Given the description of an element on the screen output the (x, y) to click on. 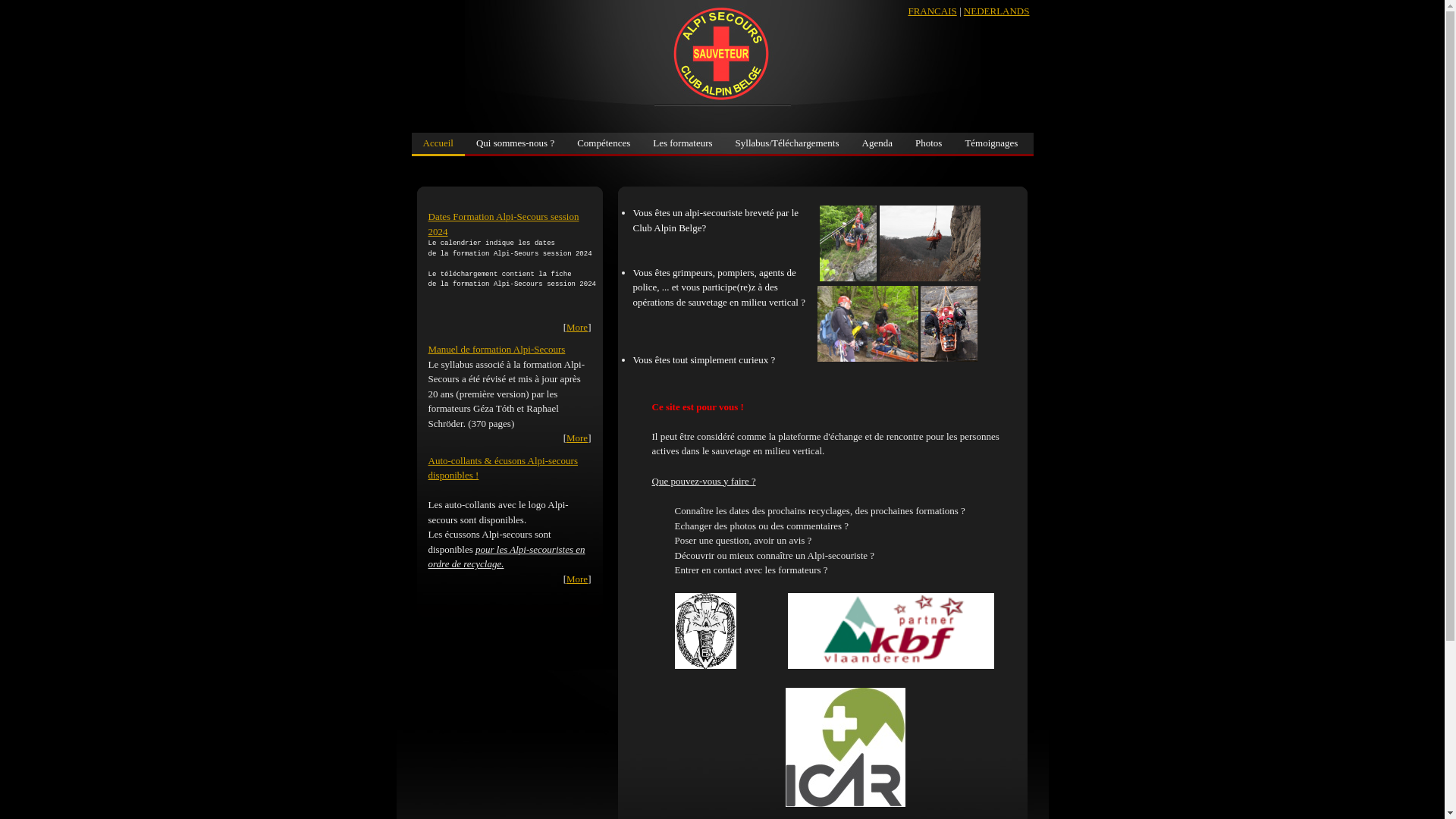
More Element type: text (576, 326)
KBF Element type: hover (890, 630)
Les formateurs Element type: text (682, 142)
Accueil Element type: text (437, 144)
NEDERLANDS Element type: text (996, 10)
Agenda Element type: text (876, 142)
icar logo Element type: hover (845, 746)
More Element type: text (576, 578)
Dates Formation Alpi-Secours session 2024 Element type: text (502, 223)
Manuel de formation Alpi-Secours Element type: text (495, 348)
More Element type: text (576, 437)
Club Alpin  Element type: hover (705, 630)
FRANCAIS Element type: text (931, 10)
Brancardage Element type: hover (867, 322)
Dave - vertical rescue Element type: hover (929, 243)
Photos Element type: text (928, 142)
Qui sommes-nous ? Element type: text (514, 142)
